Given the description of an element on the screen output the (x, y) to click on. 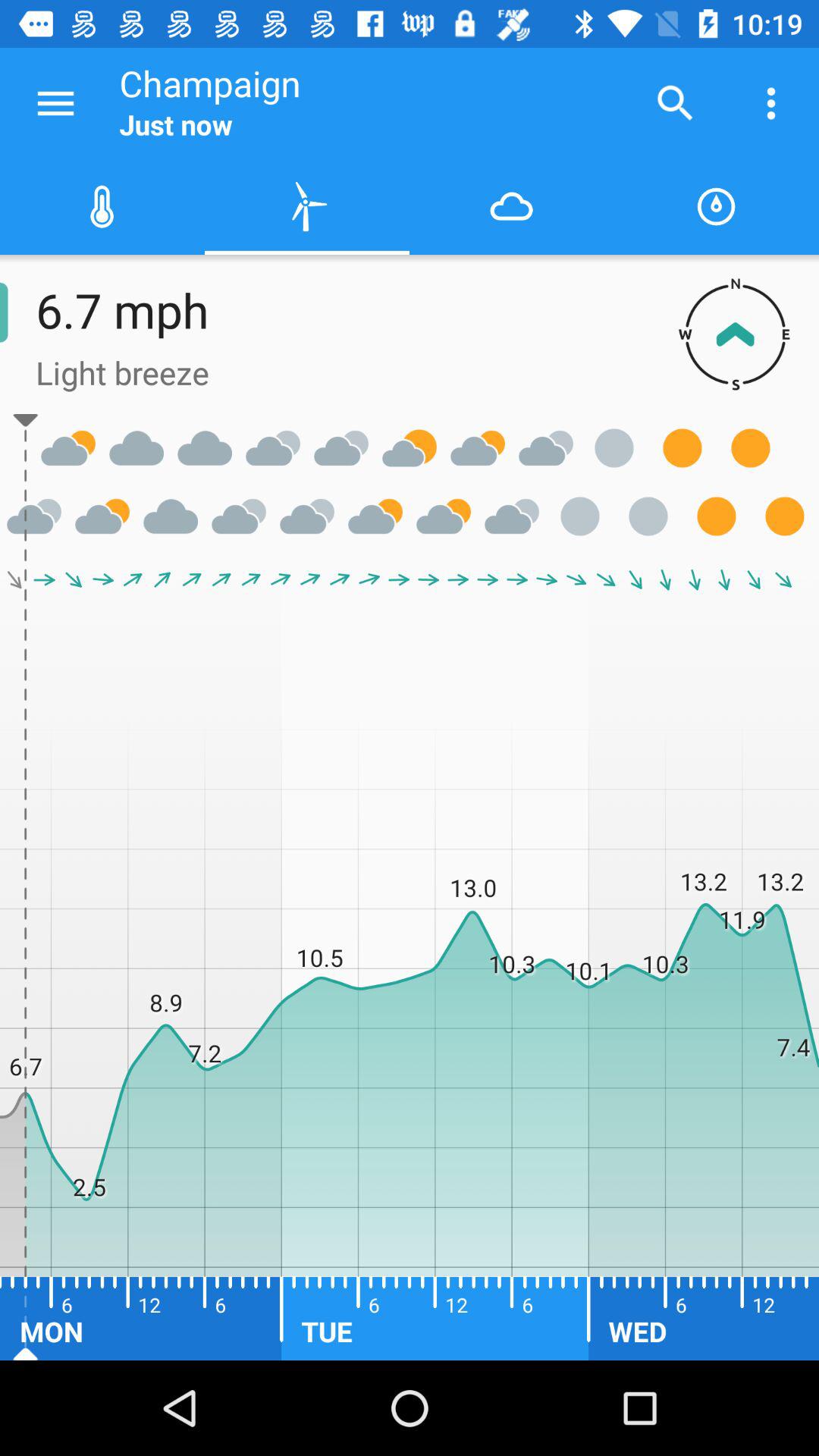
click on search button which is beside three vertical dots (675, 103)
